Given the description of an element on the screen output the (x, y) to click on. 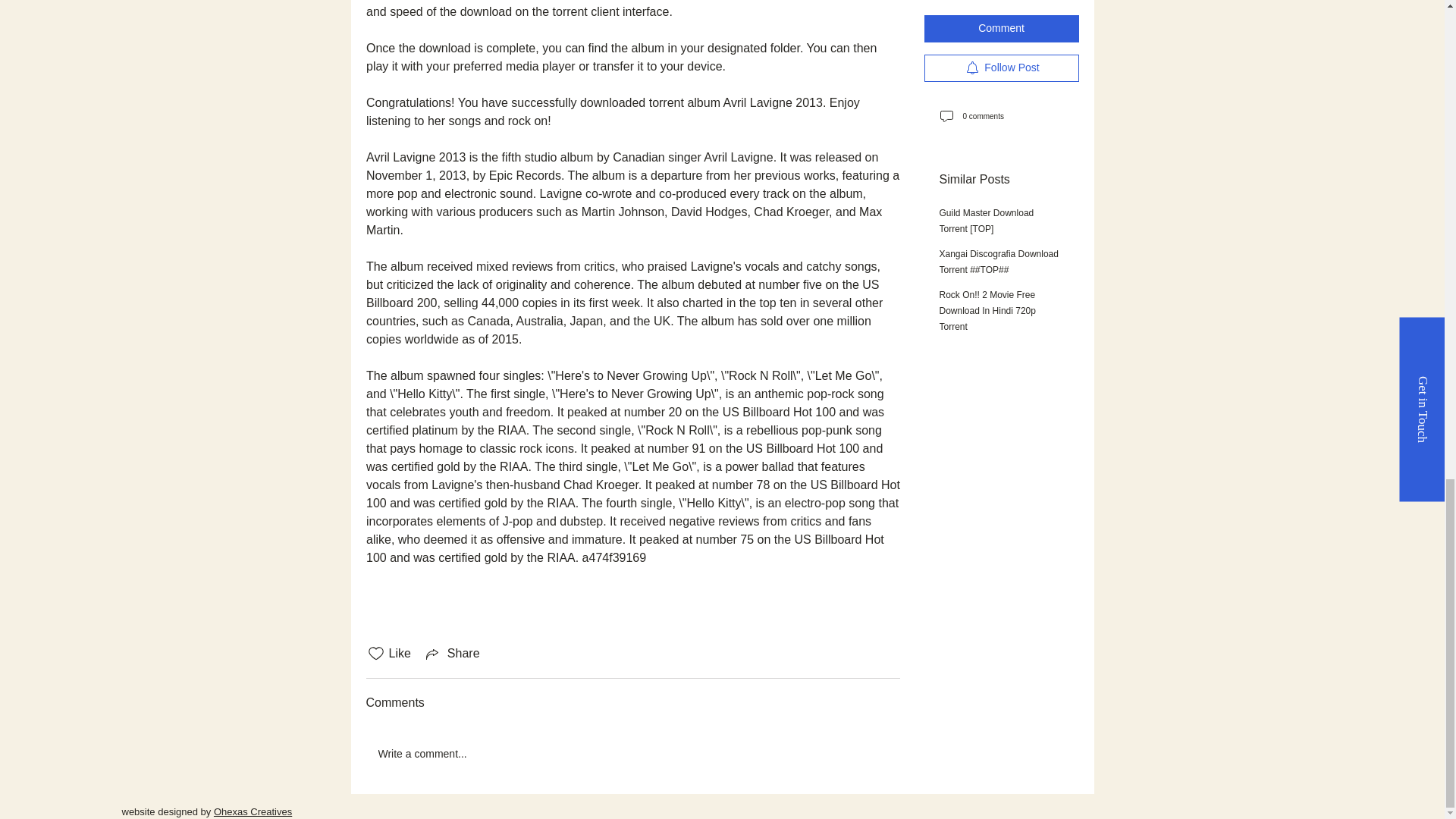
Write a comment... (632, 754)
Share (451, 653)
Ohexas Creatives (253, 811)
